Given the description of an element on the screen output the (x, y) to click on. 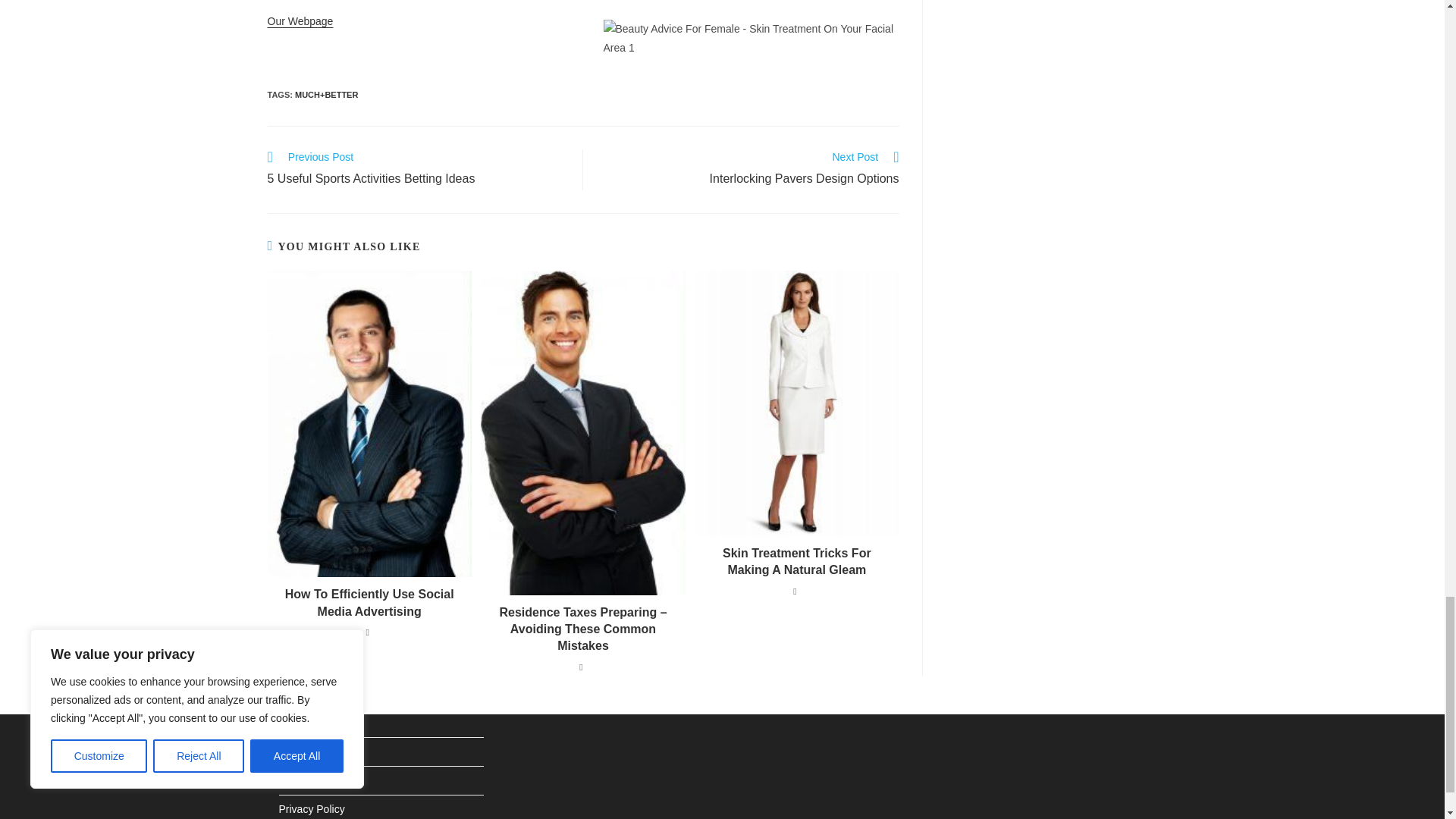
How To Efficiently Use Social Media Advertising (368, 602)
Our Webpage (748, 169)
